Given the description of an element on the screen output the (x, y) to click on. 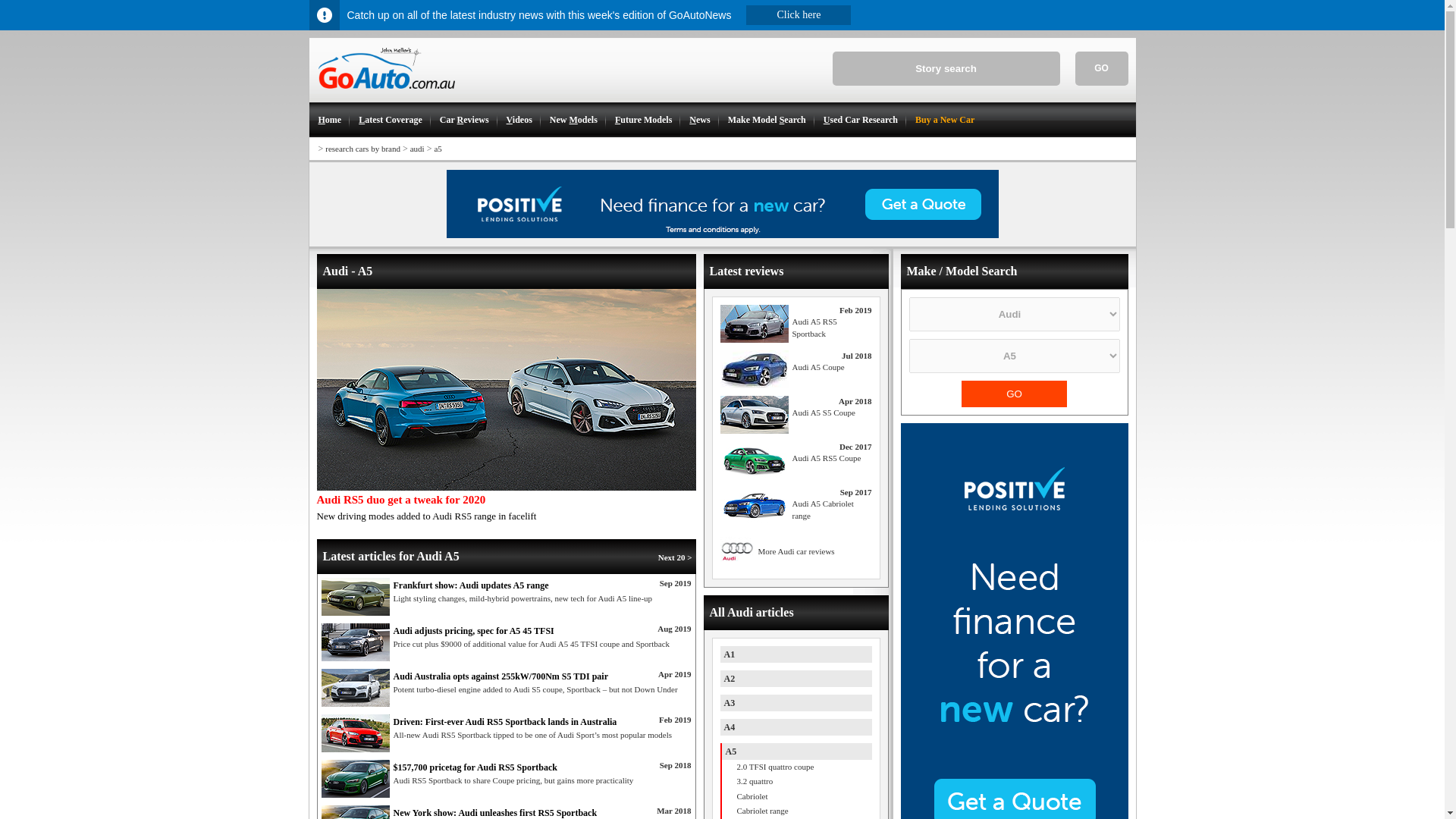
a5 (437, 148)
Frankfurt show: Audi updates A5 range (355, 596)
Used Car Research (859, 119)
Videos (518, 119)
Car Reviews (463, 119)
Make Model Search (766, 119)
GO (1013, 393)
Buy a New Car (943, 119)
Story search (945, 68)
Latest Coverage (389, 119)
